Given the description of an element on the screen output the (x, y) to click on. 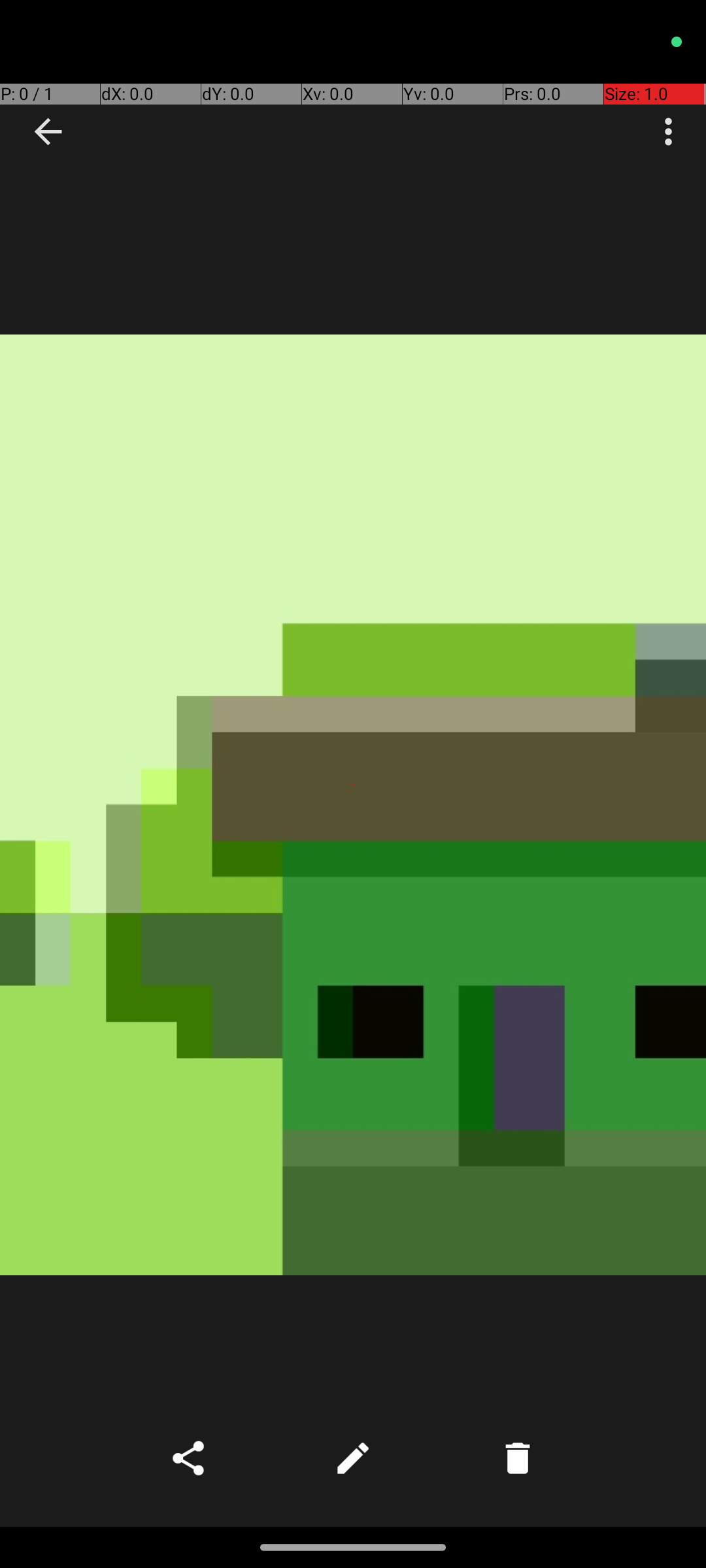
Photo taken on Oct 15, 2023 15:34:18 Element type: android.widget.ImageView (353, 804)
